Given the description of an element on the screen output the (x, y) to click on. 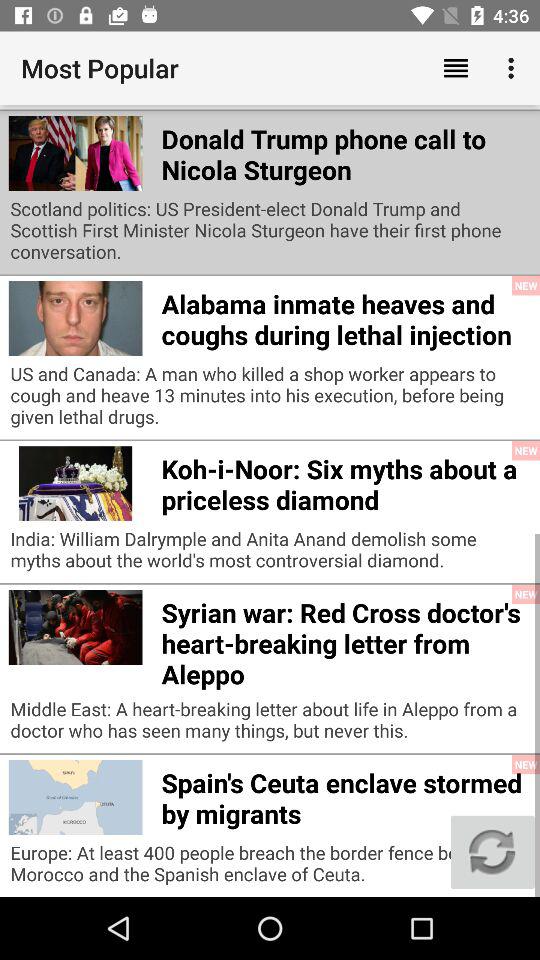
flip until the syrian war red app (345, 640)
